Given the description of an element on the screen output the (x, y) to click on. 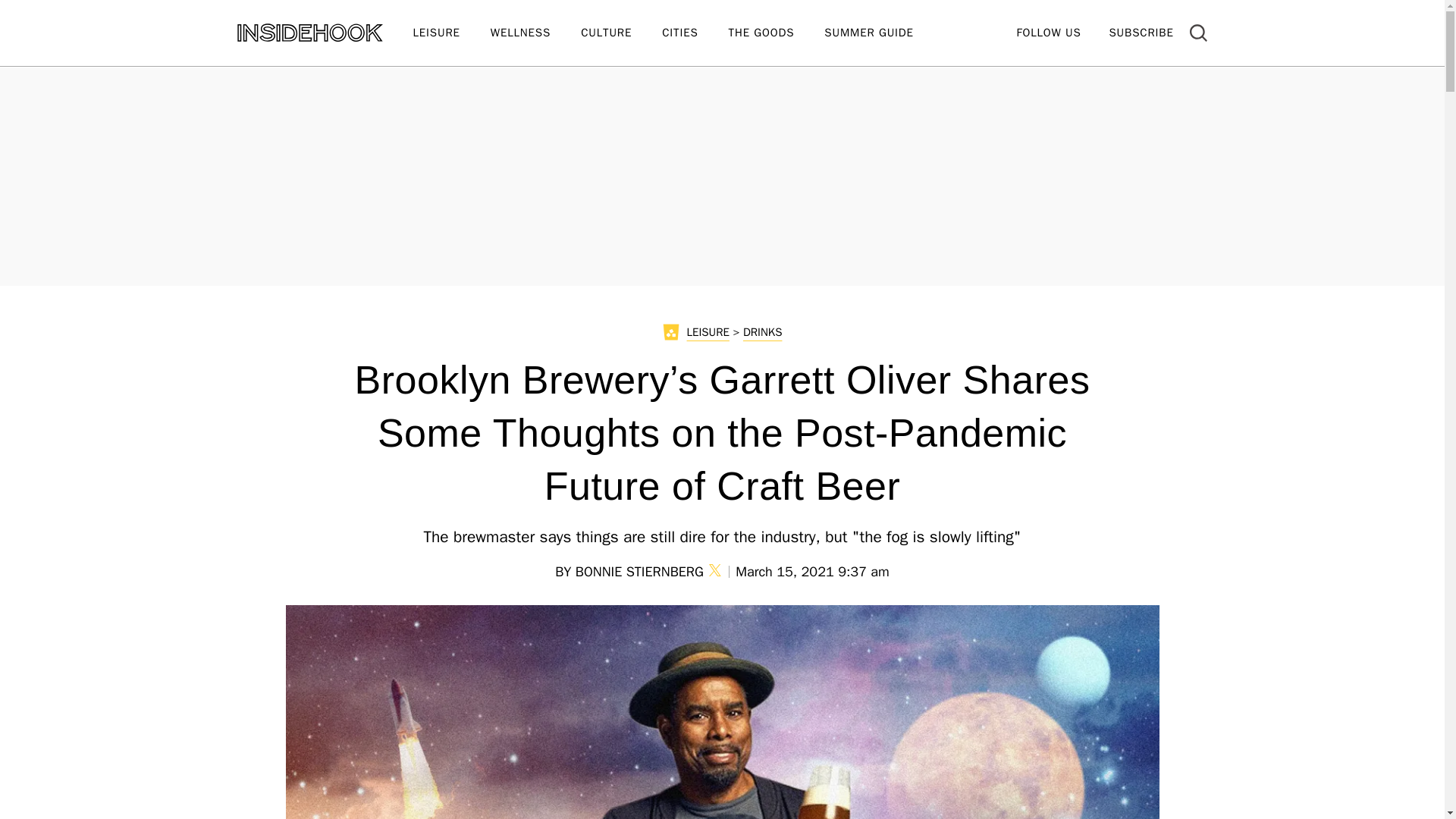
SUMMER GUIDE (883, 32)
WELLNESS (535, 32)
THE GOODS (777, 32)
SUBSCRIBE (1140, 32)
FOLLOW US (1048, 32)
CULTURE (621, 32)
CITIES (695, 32)
LEISURE (450, 32)
